Given the description of an element on the screen output the (x, y) to click on. 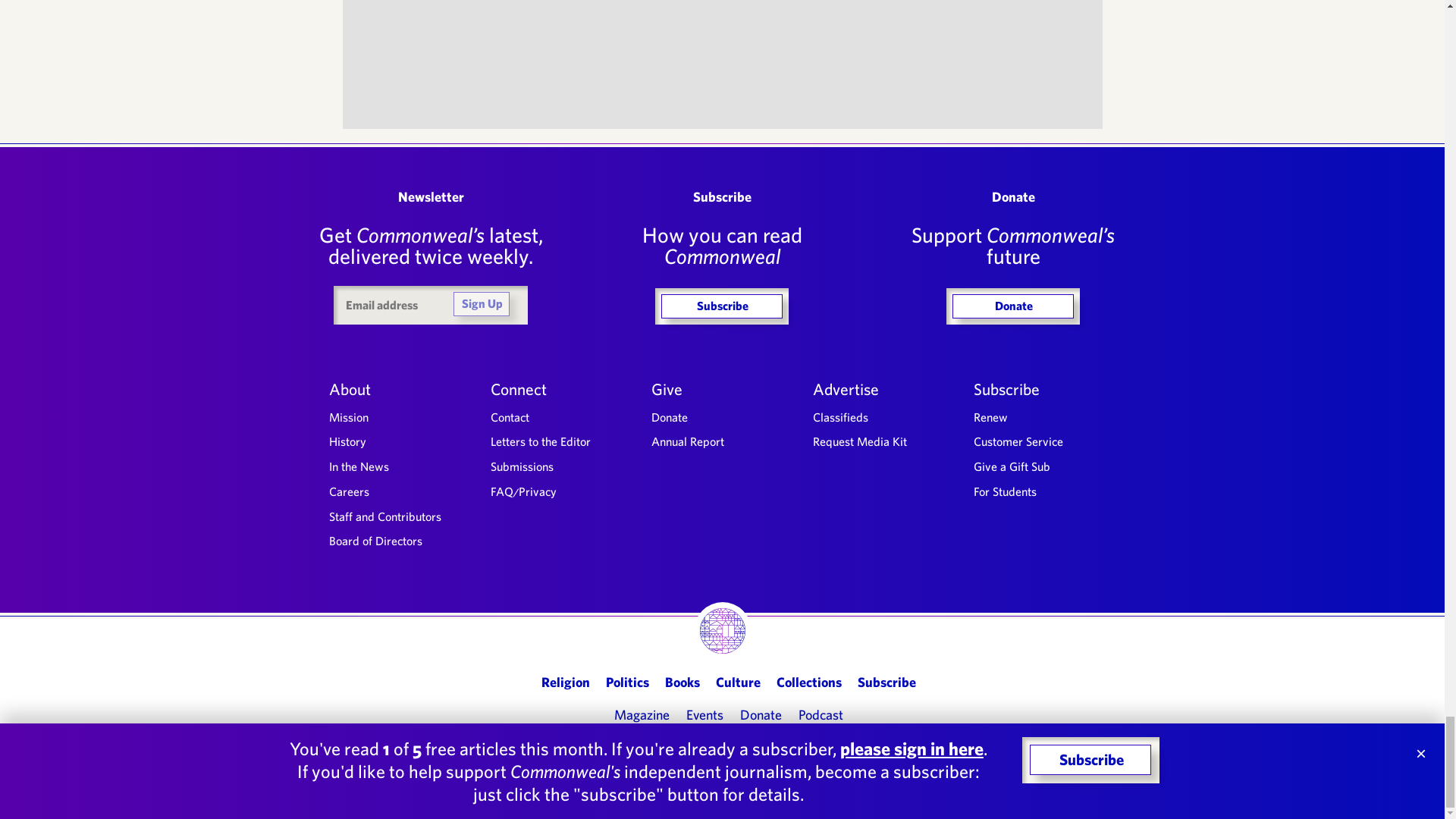
Sign Up (480, 303)
3rd party ad content (722, 58)
